Given the description of an element on the screen output the (x, y) to click on. 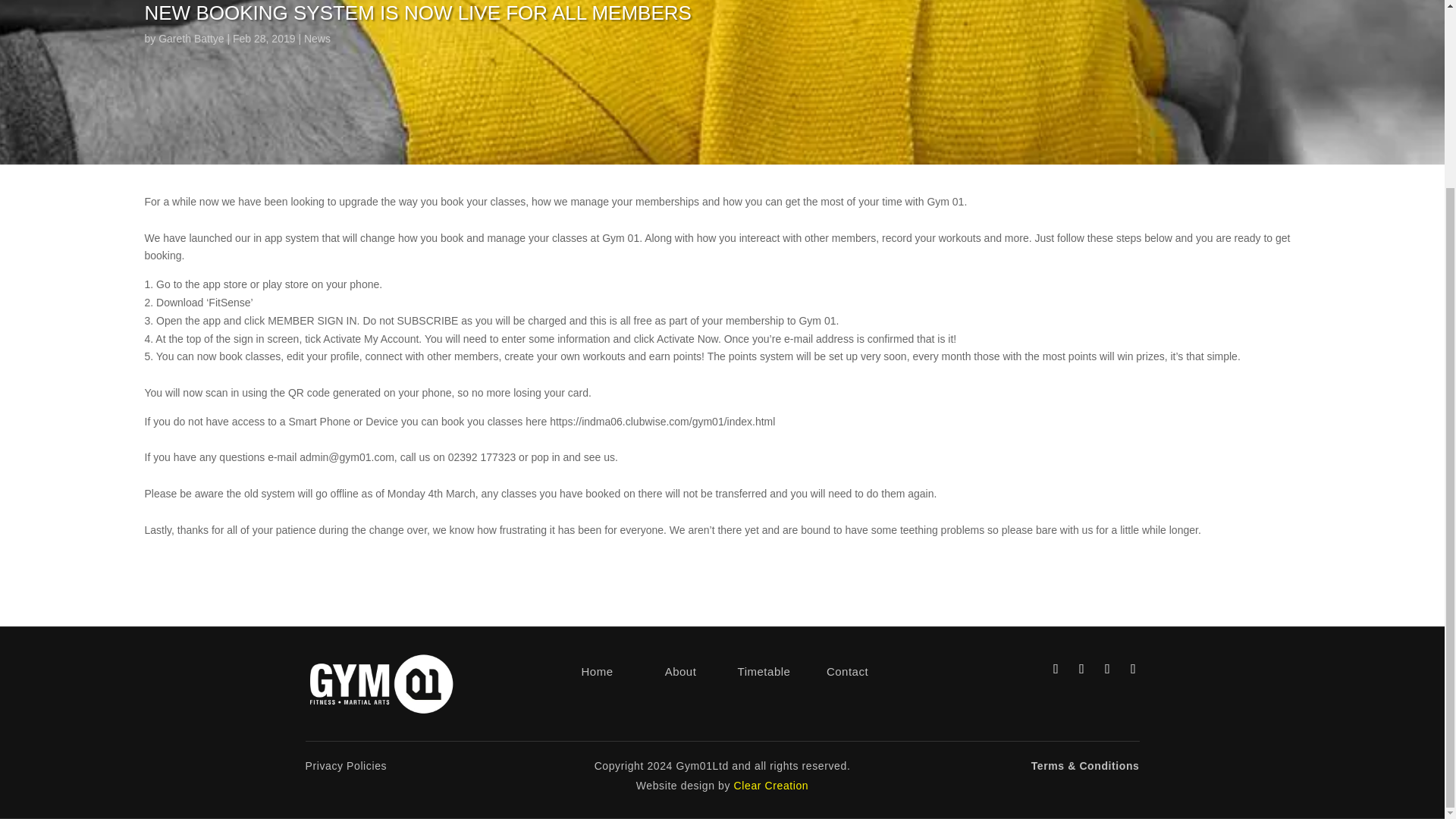
Follow on Facebook (1080, 668)
News (317, 38)
Gareth Battye (191, 38)
Clear Creation (771, 785)
Follow on X (1107, 668)
Gym 01 Logo High Res white (380, 683)
Follow on Youtube (1133, 668)
Follow on Instagram (1055, 668)
Posts by Gareth Battye (191, 38)
